Given the description of an element on the screen output the (x, y) to click on. 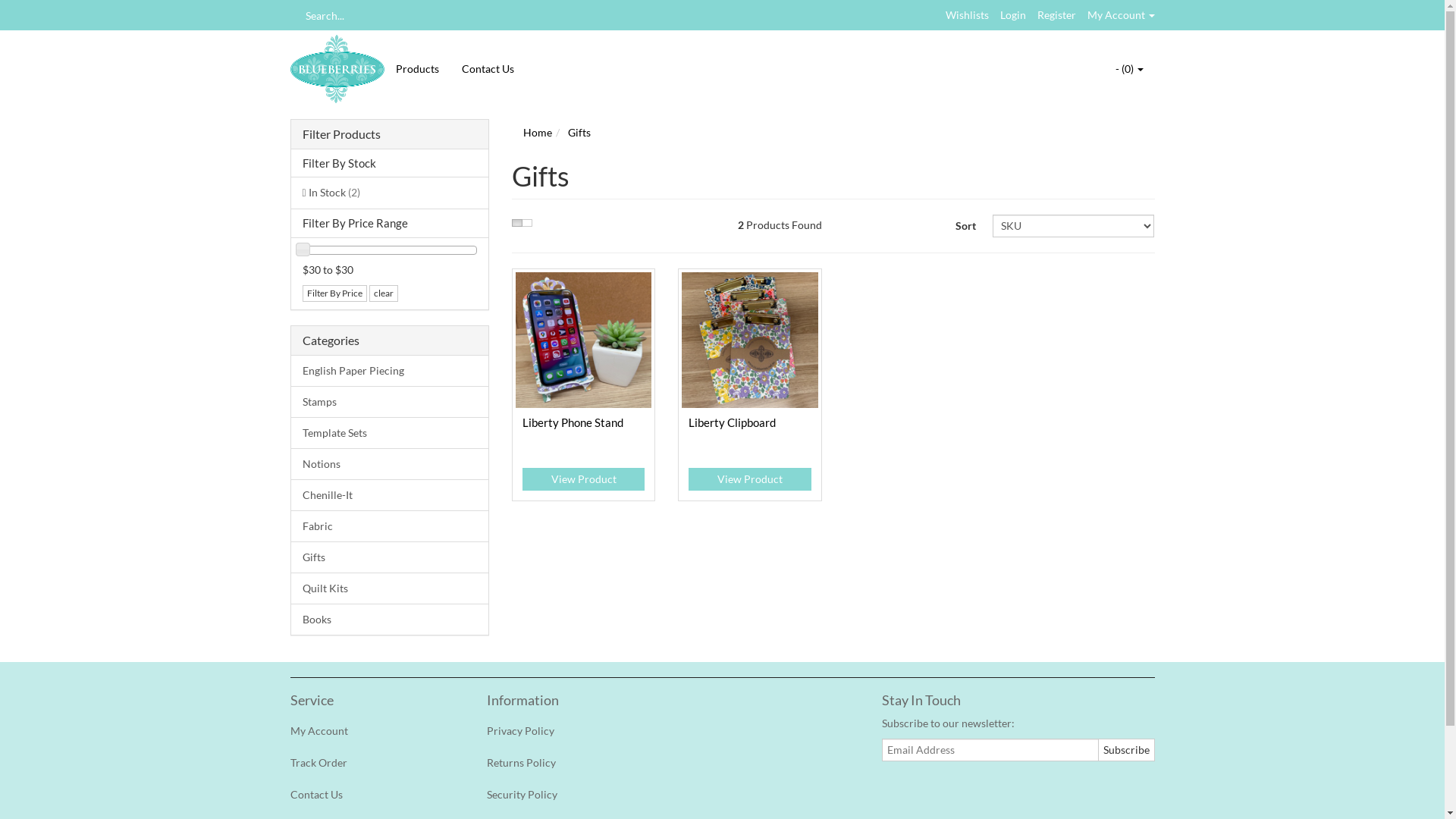
- (0) Element type: text (1129, 68)
Quilt Kits Element type: text (390, 588)
Contact Us Element type: text (487, 68)
Search Element type: text (294, 14)
View Product Element type: text (749, 478)
Chenille-It Element type: text (390, 494)
Gifts Element type: text (578, 131)
Template Sets Element type: text (390, 432)
clear Element type: text (382, 293)
View Product Element type: text (583, 478)
Track Order Element type: text (371, 762)
Home Element type: text (537, 131)
Filter Products Element type: text (388, 134)
Wishlists Element type: text (966, 14)
Security Policy Element type: text (568, 794)
Books Element type: text (390, 618)
Fabric Element type: text (390, 526)
Stamps Element type: text (390, 401)
My Account Element type: text (1120, 14)
Liberty Clipboard Element type: text (731, 422)
In Stock (2) Element type: text (390, 192)
Gifts Element type: text (390, 556)
Contact Us Element type: text (371, 794)
Liberty Phone Stand Element type: text (572, 422)
Products Element type: text (417, 68)
English Paper Piecing Element type: text (390, 370)
Register Element type: text (1056, 14)
Filter By Price Element type: text (333, 293)
Notions Element type: text (390, 463)
My Account Element type: text (371, 730)
Subscribe Element type: text (1126, 749)
Privacy Policy Element type: text (568, 730)
Login Element type: text (1012, 14)
Returns Policy Element type: text (568, 762)
